Given the description of an element on the screen output the (x, y) to click on. 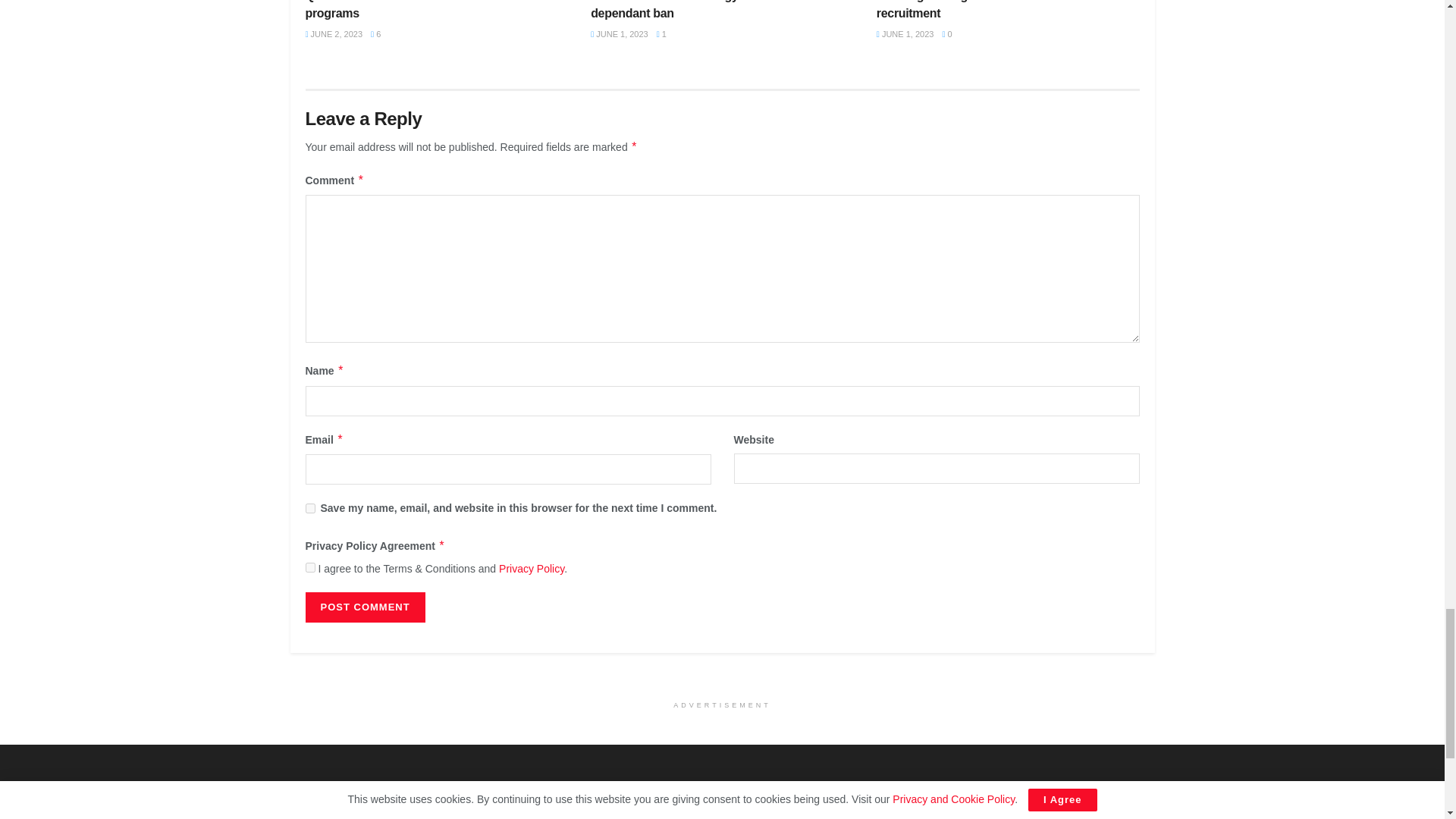
yes (309, 508)
on (309, 567)
Post Comment (364, 607)
